Given the description of an element on the screen output the (x, y) to click on. 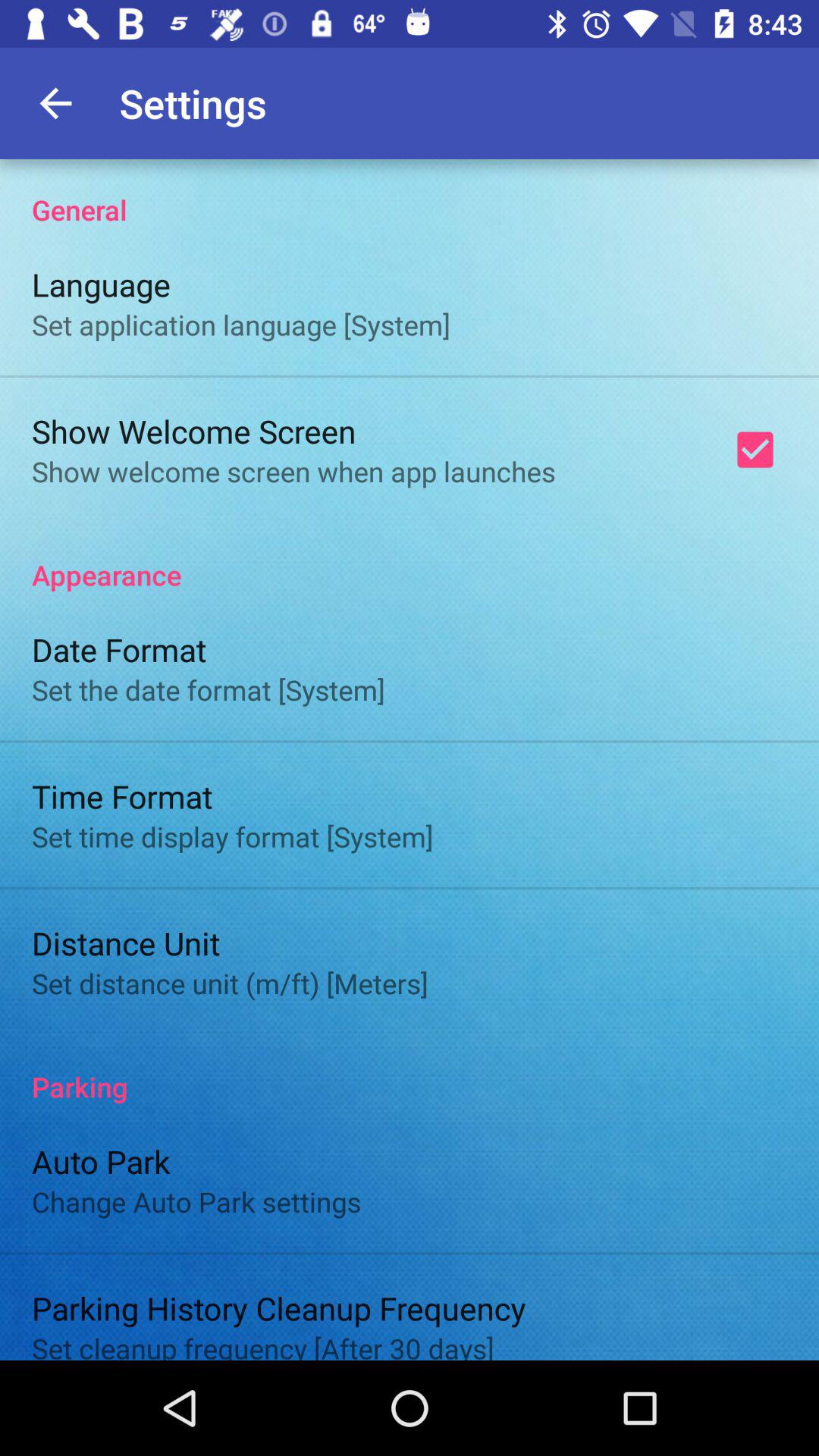
click item at the top right corner (755, 449)
